Given the description of an element on the screen output the (x, y) to click on. 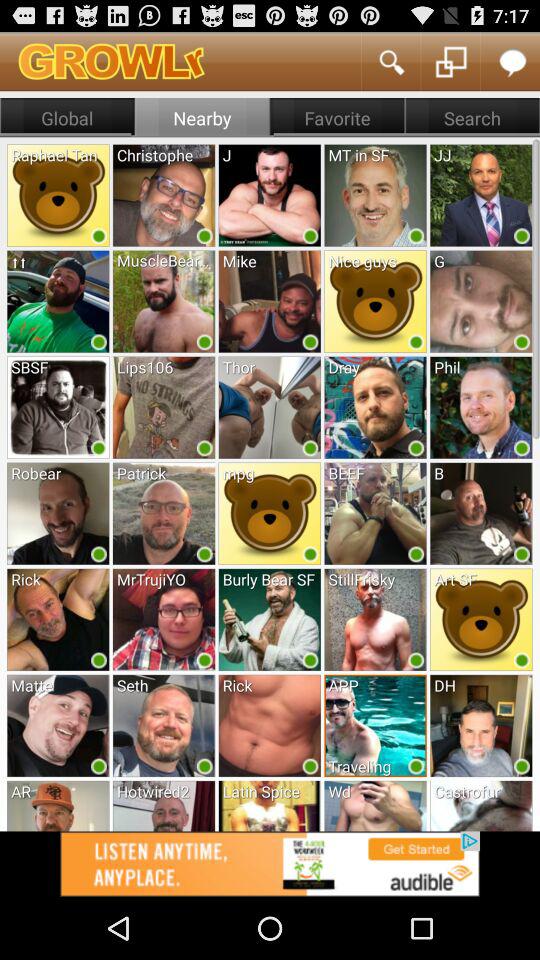
select the fifth row fifth image (480, 620)
select the image which is below search (480, 194)
select the image on which phil is written (480, 407)
select the first image in second row (58, 301)
go to the green circle in fourth row fourth option (415, 553)
select the green color button in the first row third image (310, 235)
select the green color button in the sixth row fifth image (521, 766)
